Given the description of an element on the screen output the (x, y) to click on. 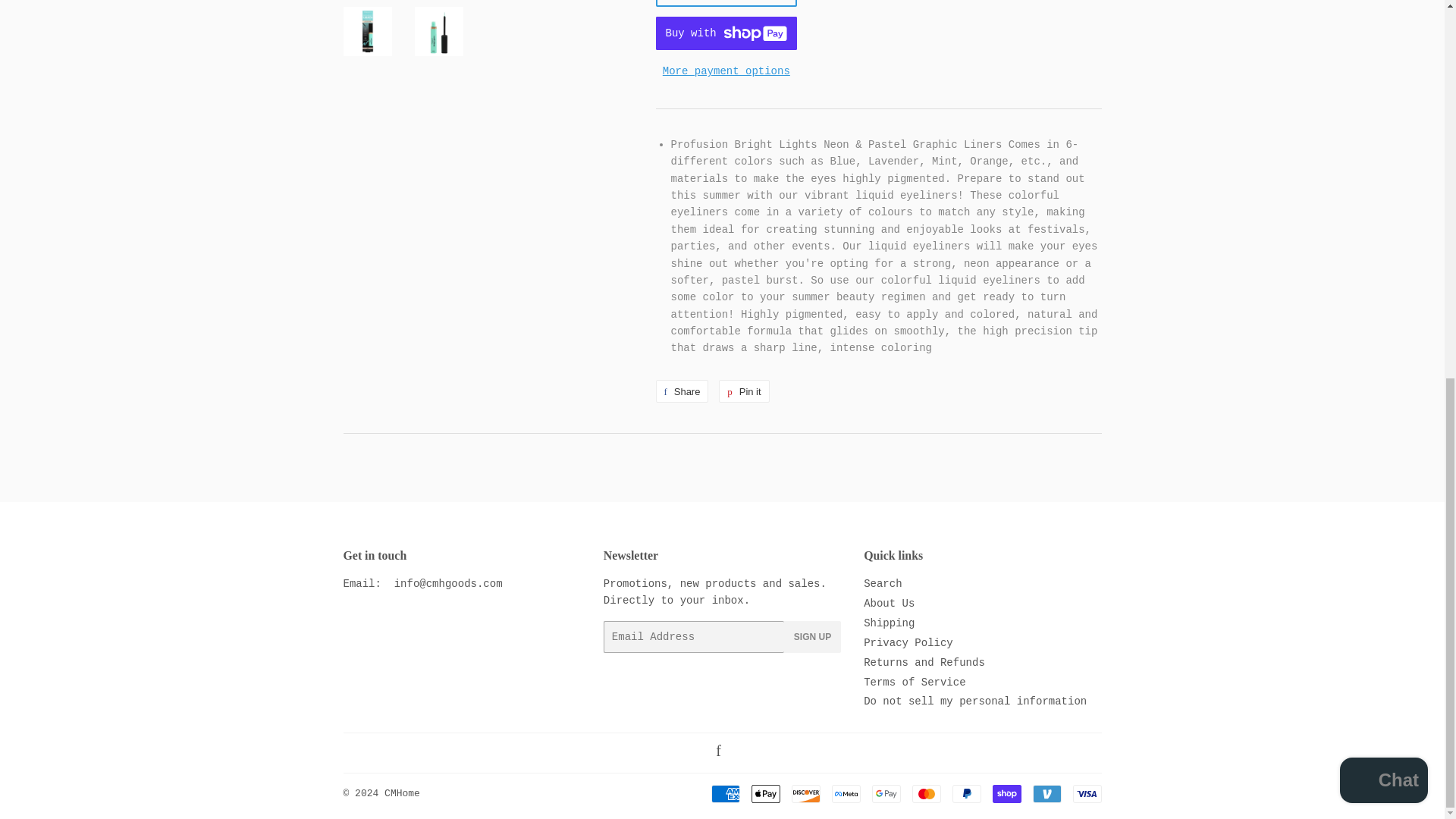
Visa (1085, 793)
Discover (806, 793)
Shop Pay (1005, 793)
Share on Facebook (681, 391)
Pin on Pinterest (743, 391)
ADD TO CART (725, 3)
Venmo (1046, 793)
Mastercard (925, 793)
Apple Pay (764, 793)
Shopify online store chat (1383, 80)
